Given the description of an element on the screen output the (x, y) to click on. 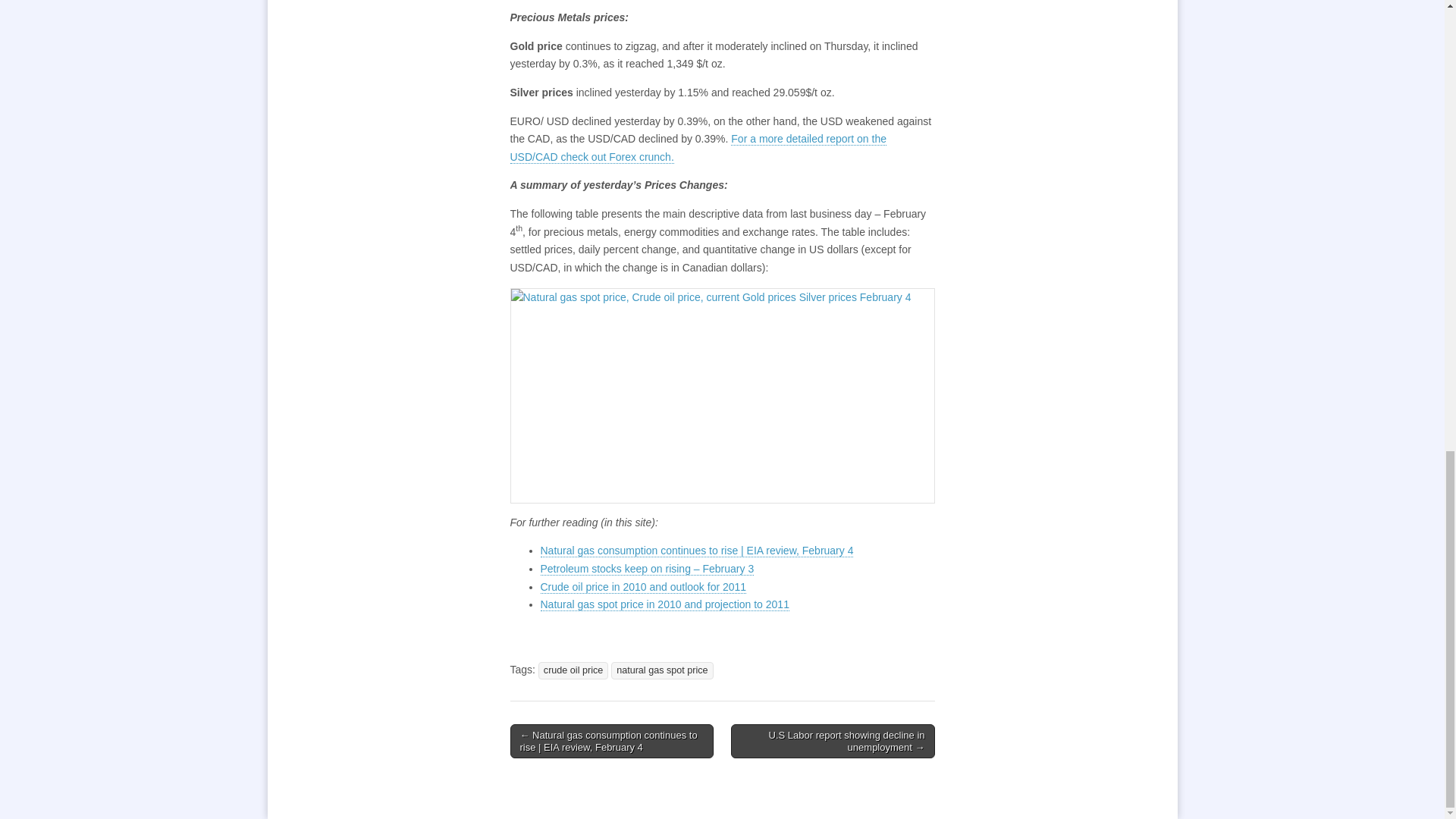
Crude oil price in 2010 and outlook for 2011 (642, 585)
Natural gas spot price in 2010 and projection to 2011 (664, 604)
natural gas spot price (662, 670)
crude oil price (573, 670)
